Given the description of an element on the screen output the (x, y) to click on. 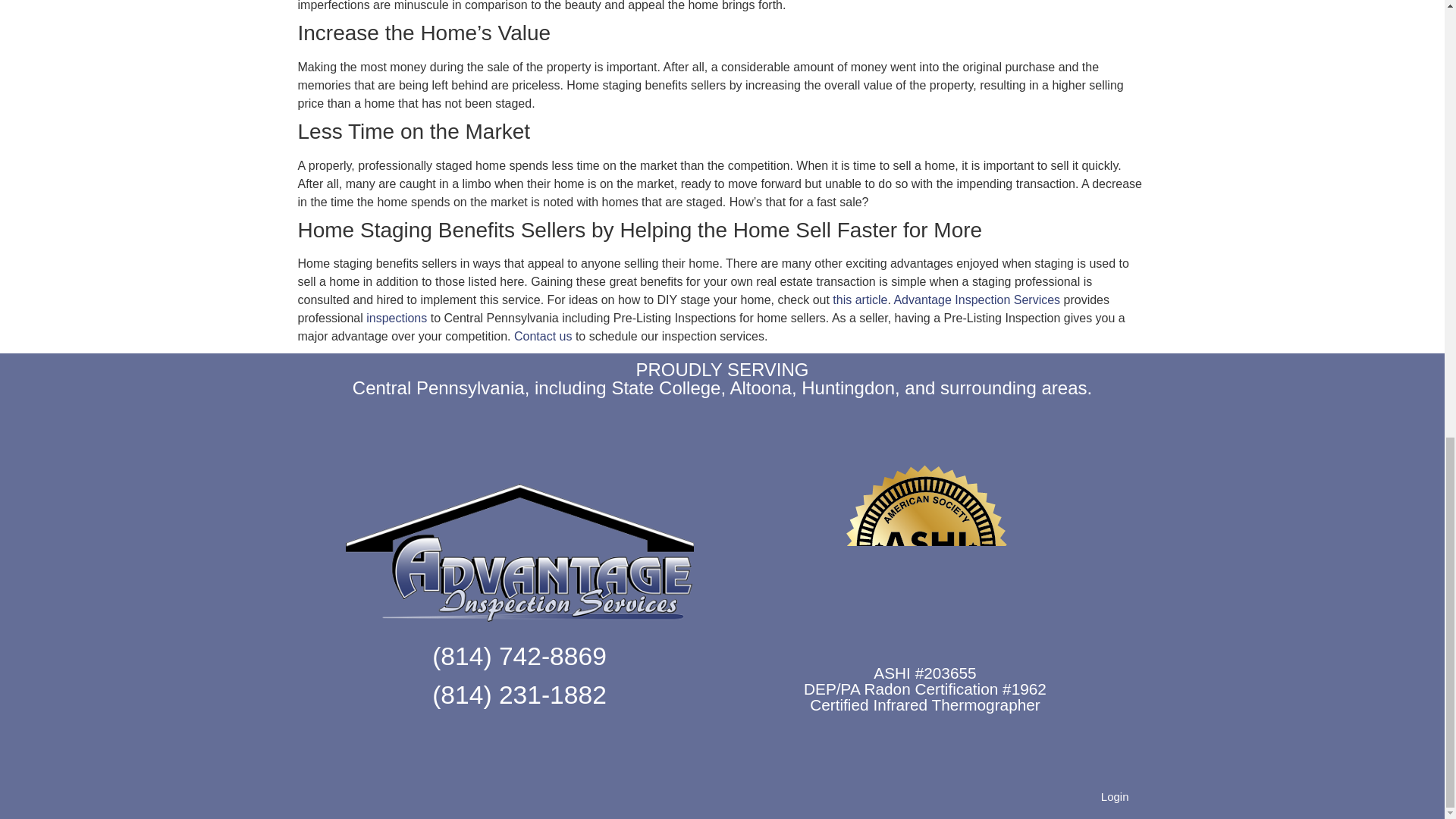
Contact us (542, 336)
inspections (396, 318)
Advantage Inspection Services (976, 299)
Login (1115, 796)
this article (859, 299)
